Given the description of an element on the screen output the (x, y) to click on. 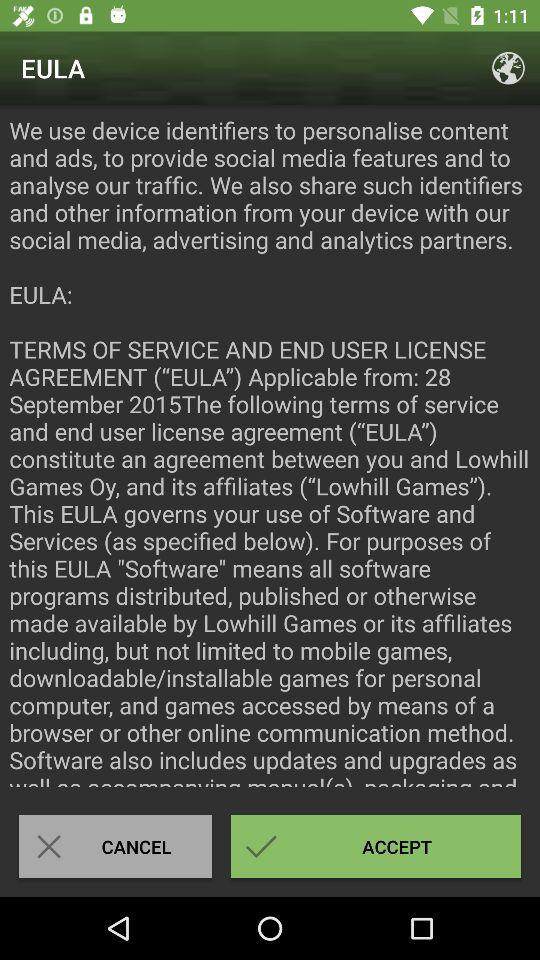
select the item below we use device item (375, 846)
